Given the description of an element on the screen output the (x, y) to click on. 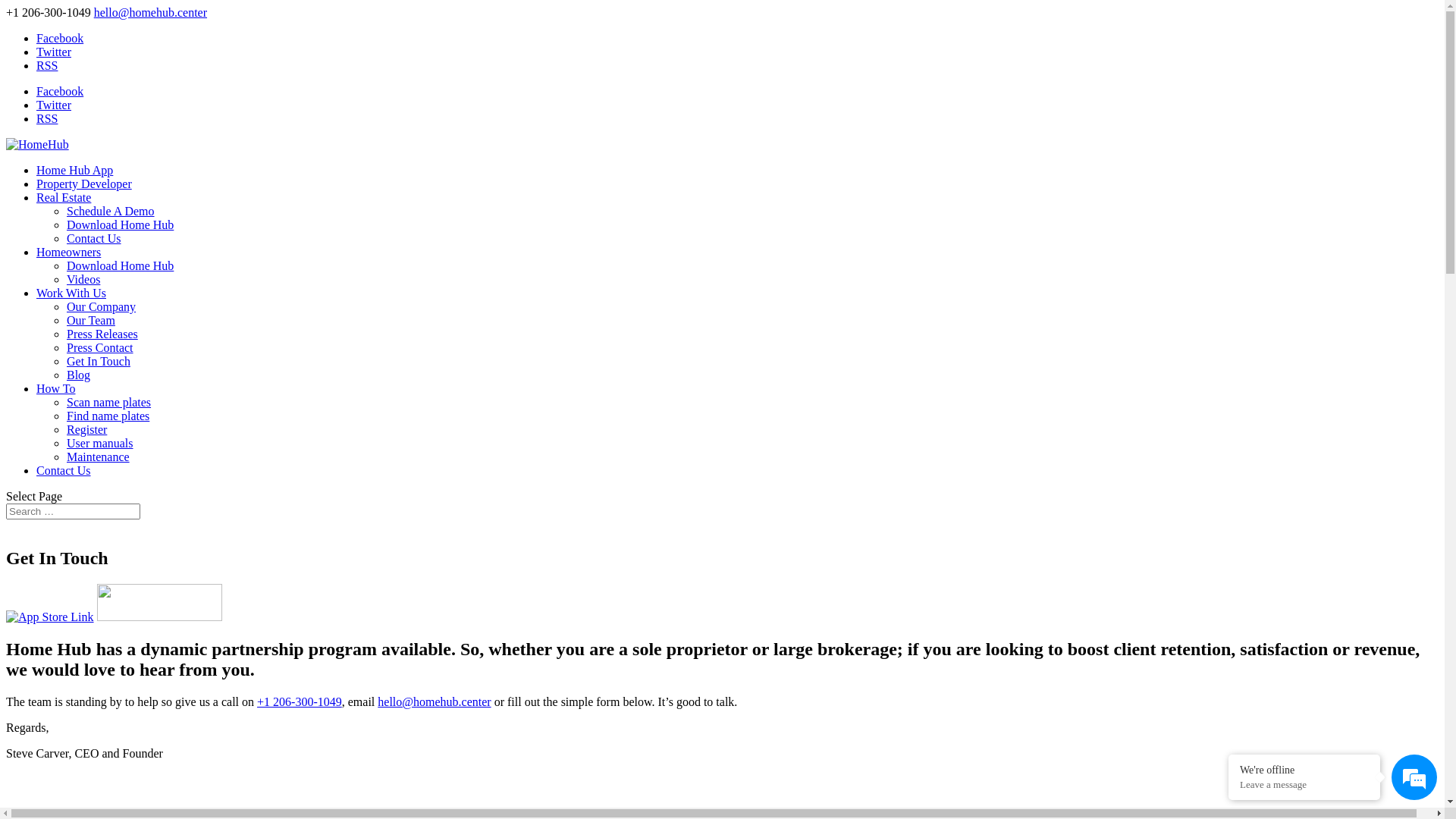
Our Company Element type: text (100, 306)
Register Element type: text (86, 429)
Scan name plates Element type: text (108, 401)
Download Home Hub Element type: text (119, 224)
User manuals Element type: text (99, 442)
Real Estate Element type: text (63, 197)
Contact Us Element type: text (63, 470)
Press Releases Element type: text (102, 333)
Homeowners Element type: text (68, 251)
+1 206-300-1049 Element type: text (299, 701)
Home Hub App Element type: text (74, 169)
Twitter Element type: text (53, 104)
RSS Element type: text (46, 65)
Contact Us Element type: text (93, 238)
Search for: Element type: hover (73, 511)
How To Element type: text (55, 388)
Blog Element type: text (78, 374)
Our Team Element type: text (90, 319)
Twitter Element type: text (53, 51)
Download Home Hub Element type: text (119, 265)
Maintenance Element type: text (97, 456)
hello@homehub.center Element type: text (150, 12)
Facebook Element type: text (59, 37)
Facebook Element type: text (59, 90)
Press Contact Element type: text (99, 347)
Property Developer Element type: text (83, 183)
Work With Us Element type: text (71, 292)
hello@homehub.center Element type: text (433, 701)
Schedule A Demo Element type: text (110, 210)
Find name plates Element type: text (107, 415)
Videos Element type: text (83, 279)
RSS Element type: text (46, 118)
Get In Touch Element type: text (98, 360)
